Given the description of an element on the screen output the (x, y) to click on. 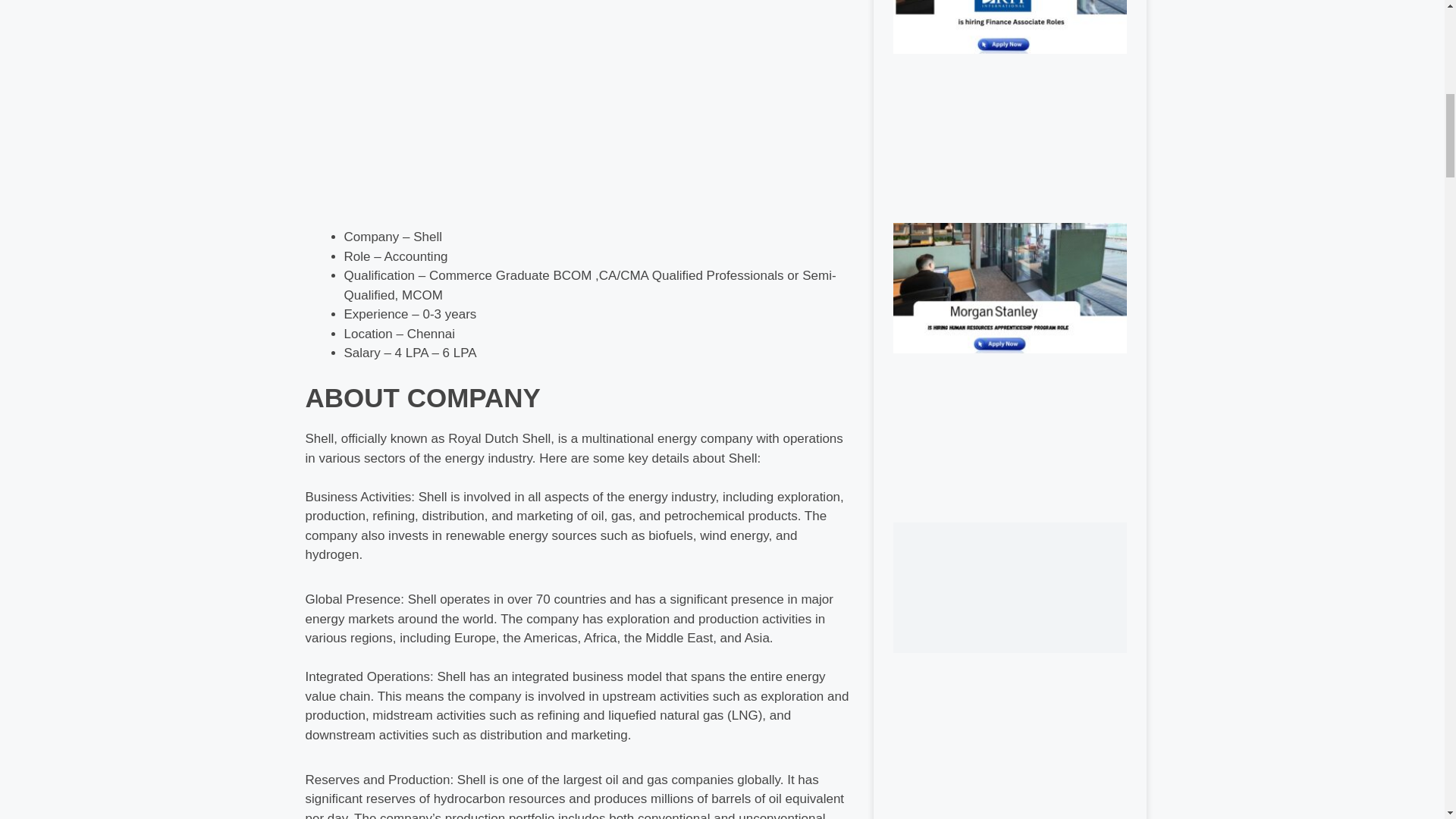
Advertisement (577, 115)
